Given the description of an element on the screen output the (x, y) to click on. 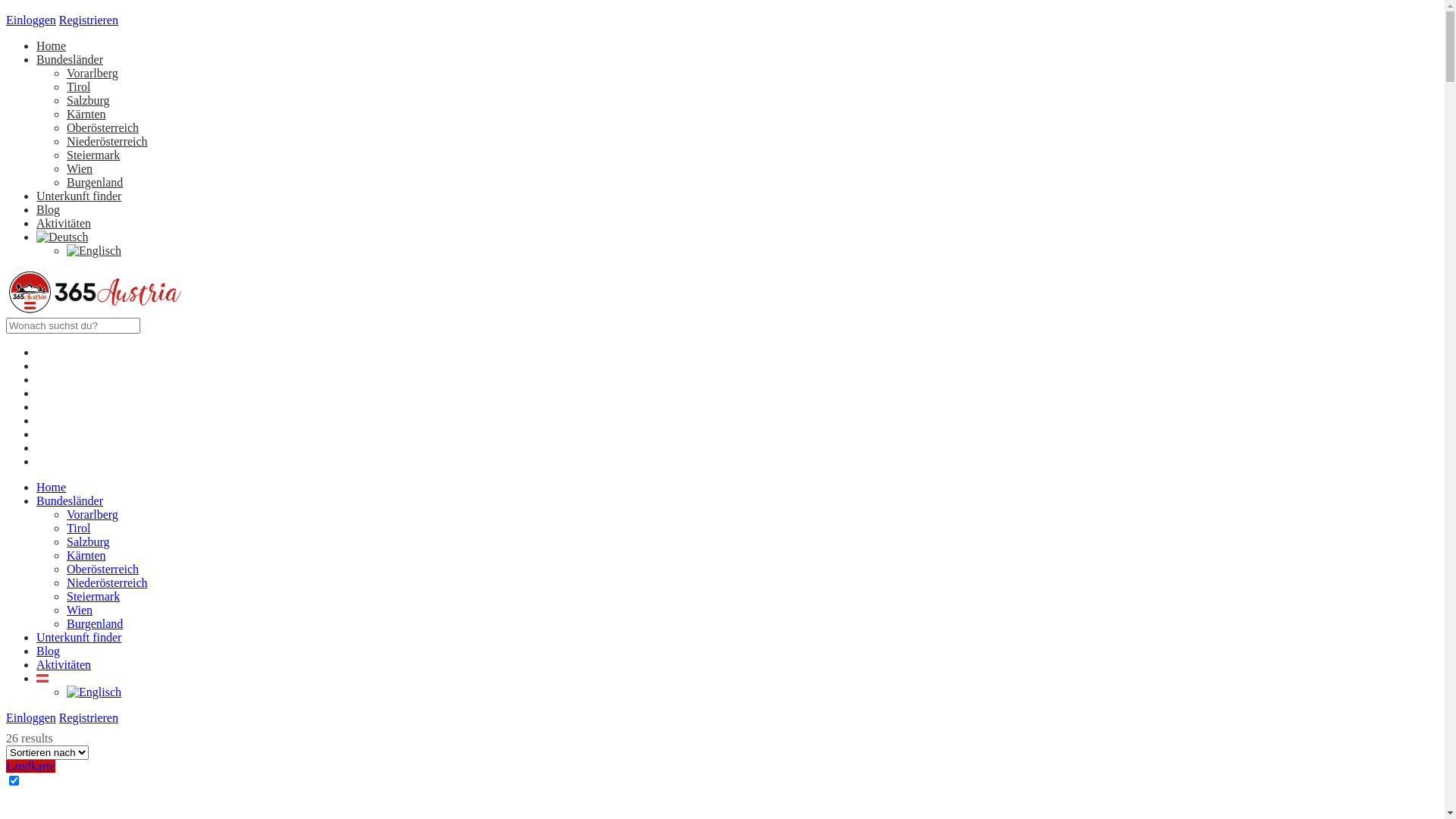
Vorarlberg Element type: text (92, 72)
Einloggen Element type: text (31, 19)
Blog Element type: text (47, 209)
Blog Element type: text (47, 616)
Unterkunft finder Element type: text (78, 195)
Vorarlberg Element type: text (92, 479)
365Austria Element type: hover (95, 310)
Home Element type: text (50, 45)
Burgenland Element type: text (94, 181)
Unterkunft finder Element type: text (78, 602)
Einloggen Element type: text (31, 683)
Steiermark Element type: text (92, 154)
Steiermark Element type: text (92, 561)
Tirol Element type: text (78, 86)
Tirol Element type: text (78, 493)
Salzburg Element type: text (87, 100)
Wien Element type: text (79, 575)
Burgenland Element type: text (94, 589)
Home Element type: text (50, 452)
Wien Element type: text (79, 168)
Registrieren Element type: text (88, 683)
Salzburg Element type: text (87, 507)
Landkarte Element type: text (30, 731)
Registrieren Element type: text (88, 19)
